Given the description of an element on the screen output the (x, y) to click on. 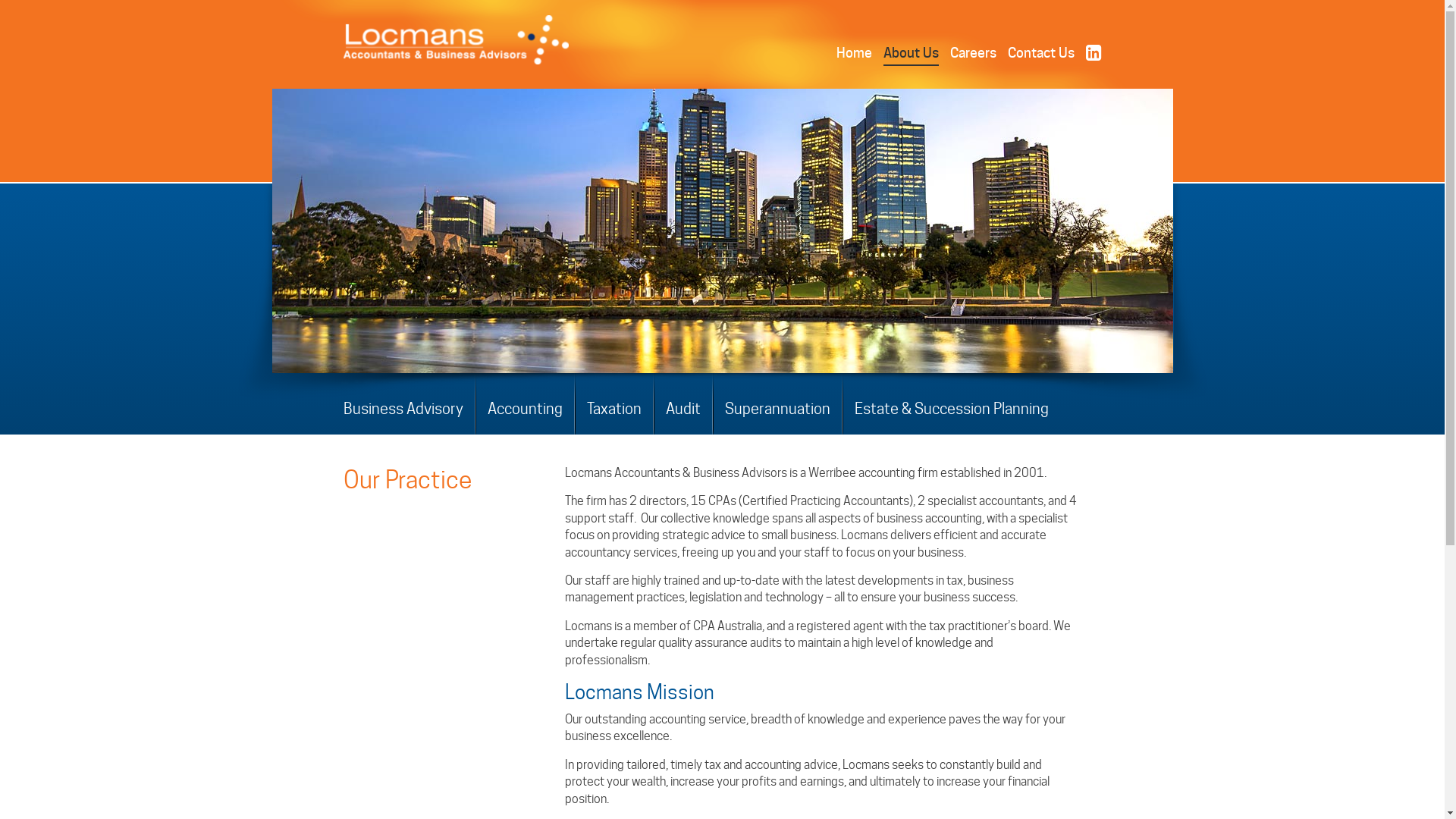
Superannuation Element type: text (776, 414)
Contact Us Element type: text (1040, 52)
About Us Element type: text (910, 53)
Taxation Element type: text (613, 414)
Audit Element type: text (682, 414)
Careers Element type: text (972, 52)
Business Advisory Element type: text (407, 414)
Estate & Succession Planning Element type: text (945, 414)
Home Element type: text (853, 52)
Accounting Element type: text (525, 414)
